Given the description of an element on the screen output the (x, y) to click on. 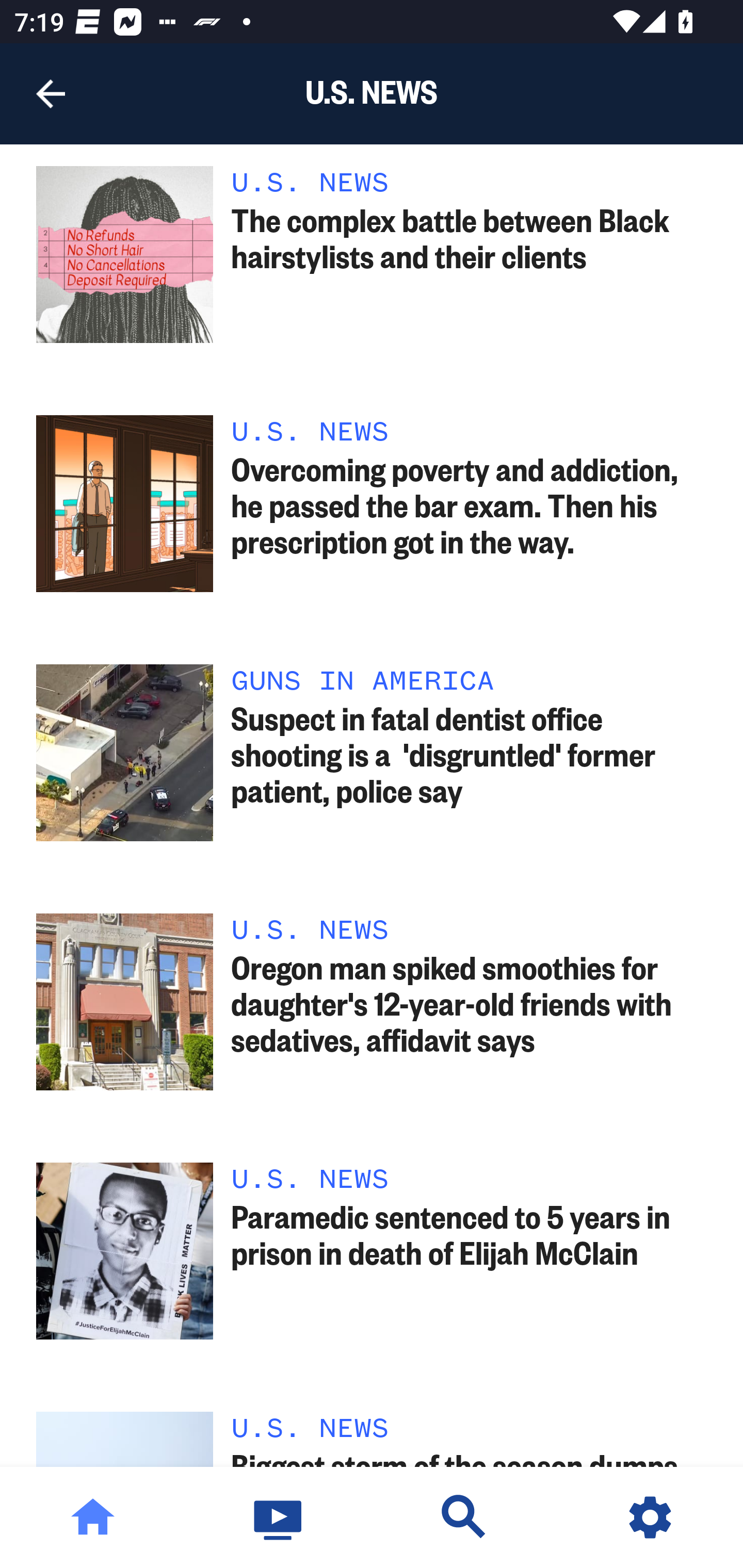
Navigate up (50, 93)
Watch (278, 1517)
Discover (464, 1517)
Settings (650, 1517)
